Given the description of an element on the screen output the (x, y) to click on. 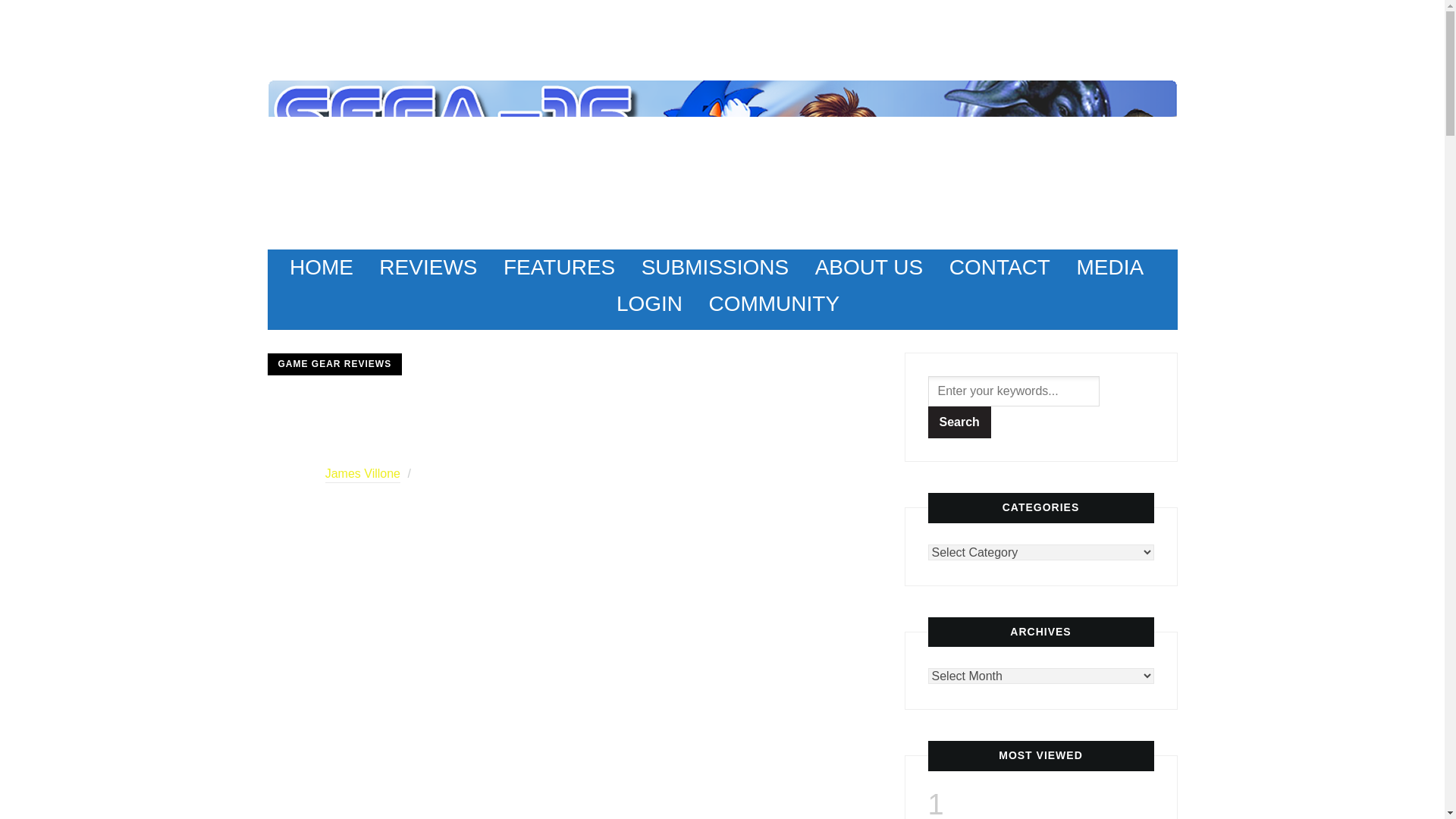
SUBMISSIONS (715, 267)
ABOUT US (869, 267)
REVIEWS (427, 267)
HOME (321, 267)
FEATURES (558, 267)
Search (959, 422)
Search (959, 422)
Posts by James Villone (362, 474)
